Given the description of an element on the screen output the (x, y) to click on. 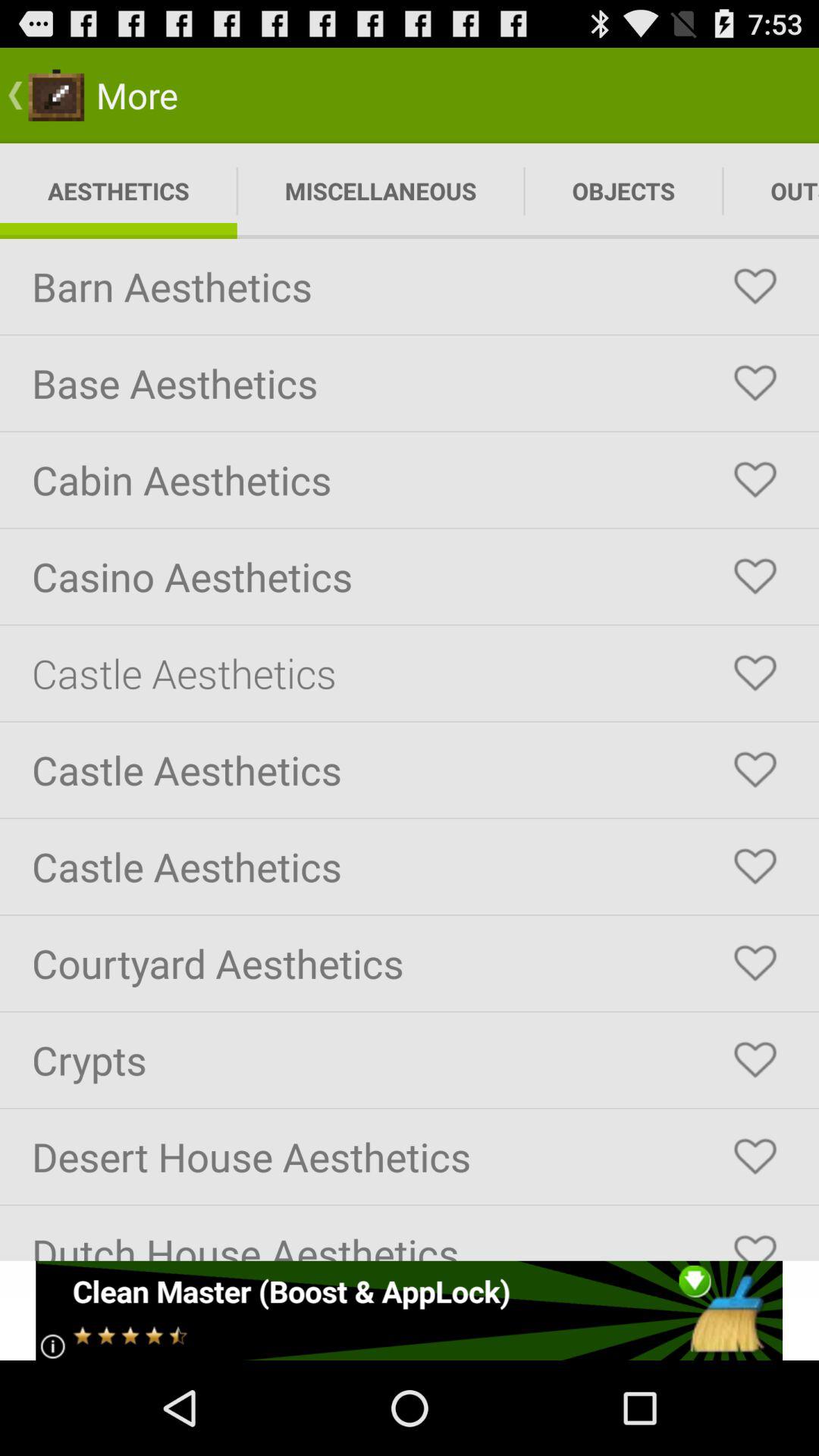
like castle aesthetics (755, 769)
